Given the description of an element on the screen output the (x, y) to click on. 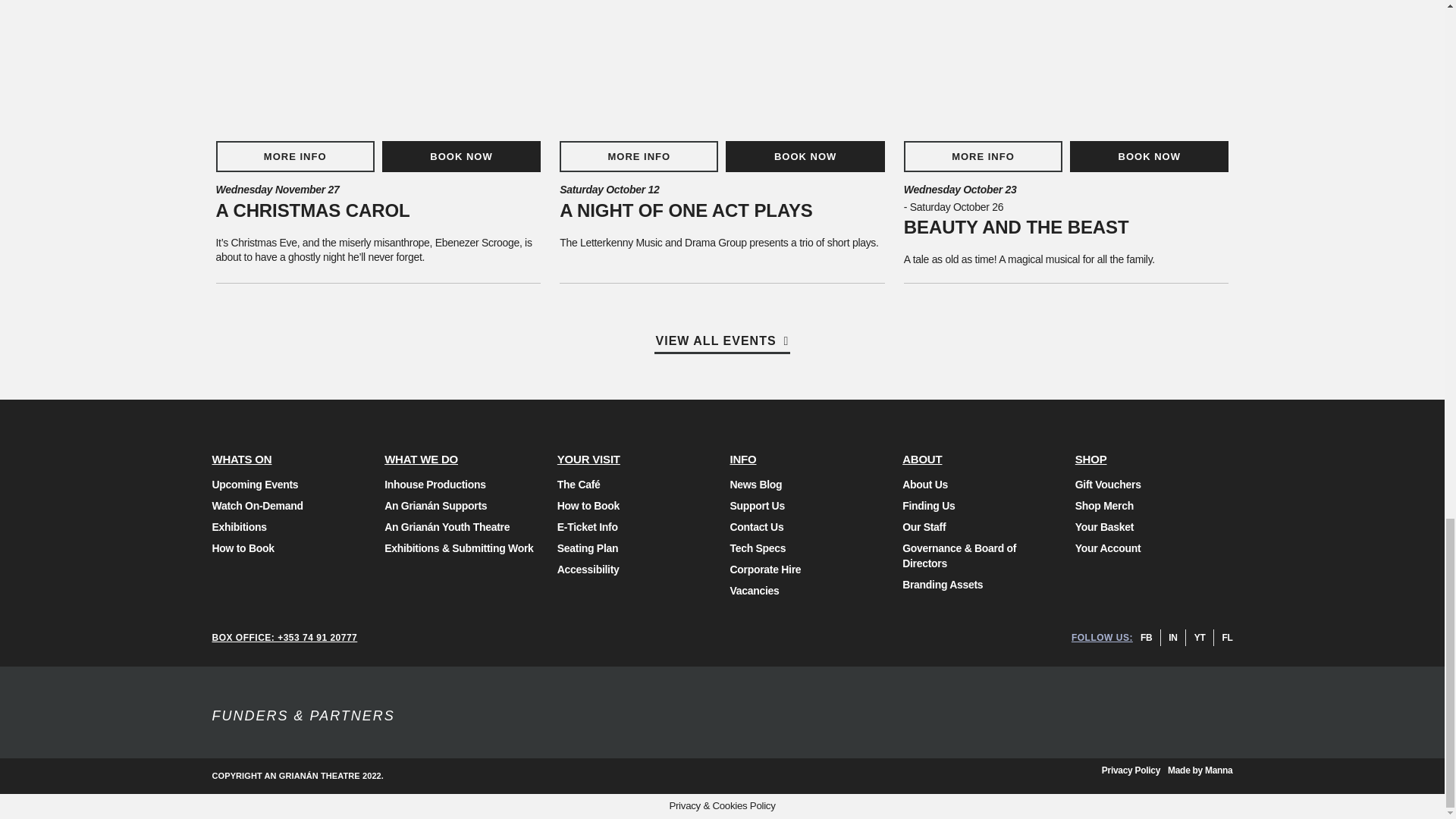
A CHRISTMAS CAROL (312, 209)
Exhibitions (290, 526)
VIEW ALL EVENTS (721, 343)
BOOK NOW (804, 155)
A NIGHT OF ONE ACT PLAYS (685, 209)
How to Book (290, 547)
BEAUTY AND THE BEAST (1016, 227)
BOOK NOW (1149, 155)
A Christmas Carol (377, 66)
